Given the description of an element on the screen output the (x, y) to click on. 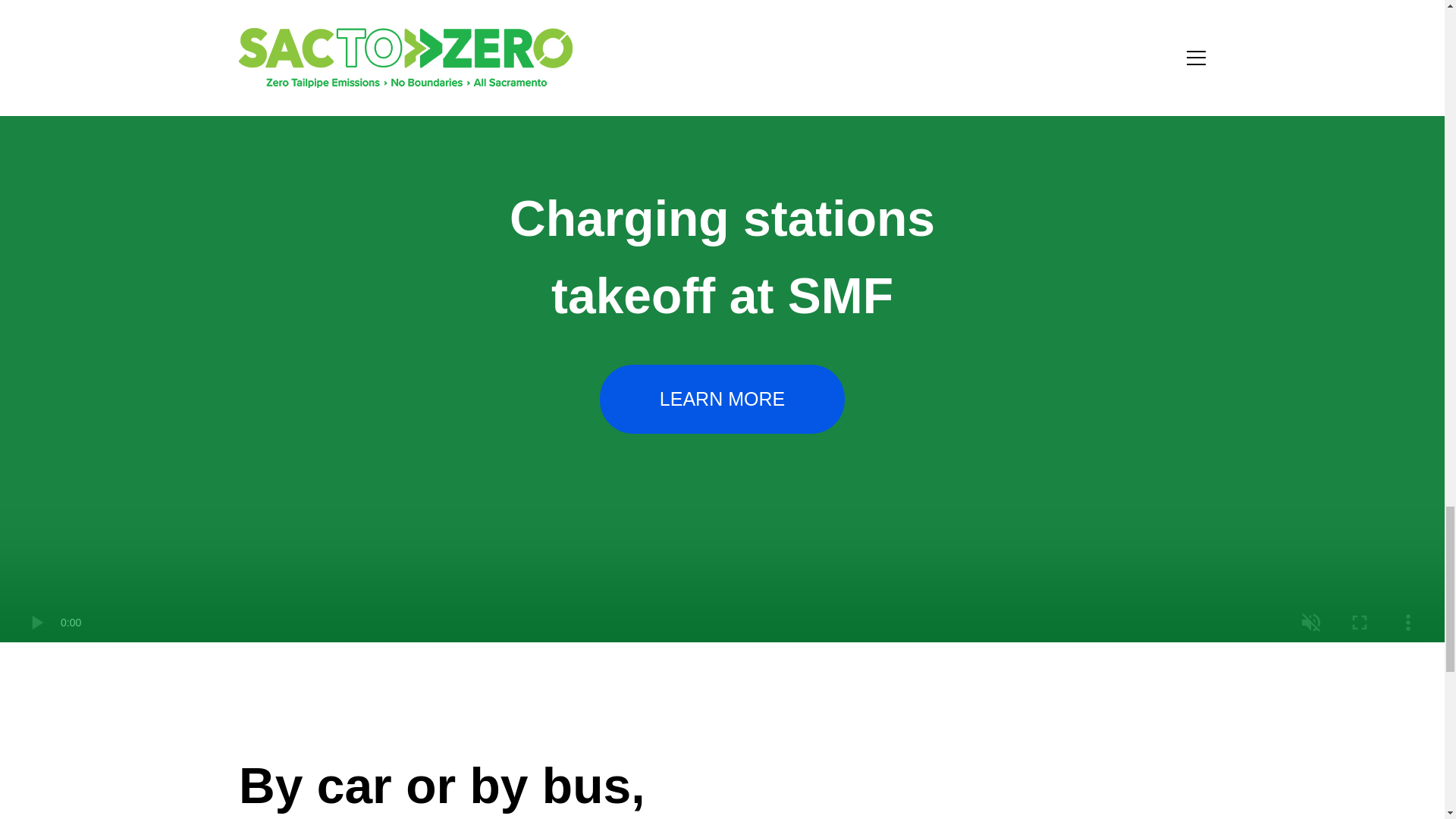
LEARN MORE (721, 399)
